Given the description of an element on the screen output the (x, y) to click on. 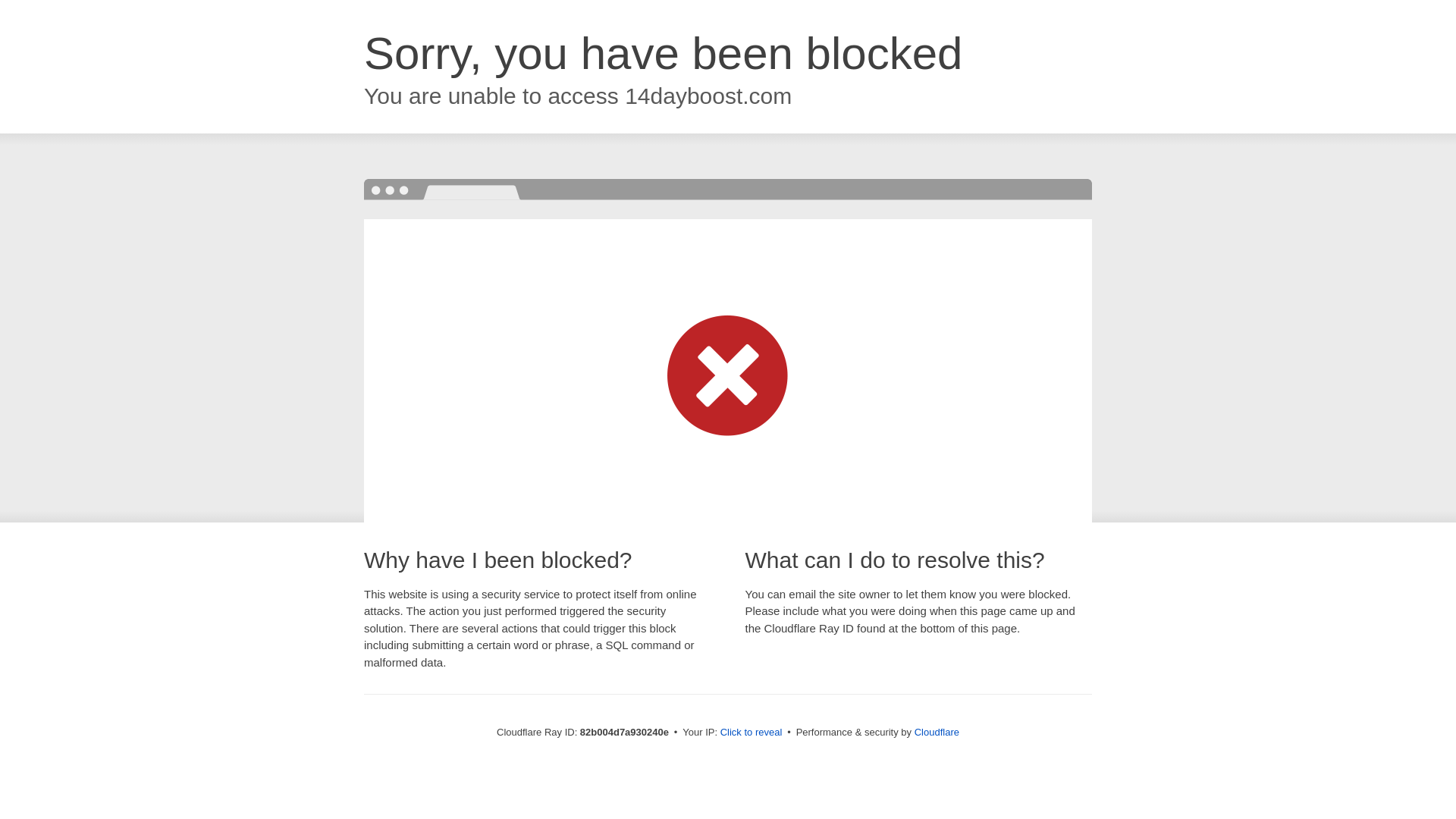
Cloudflare Element type: text (936, 731)
Click to reveal Element type: text (751, 732)
